Given the description of an element on the screen output the (x, y) to click on. 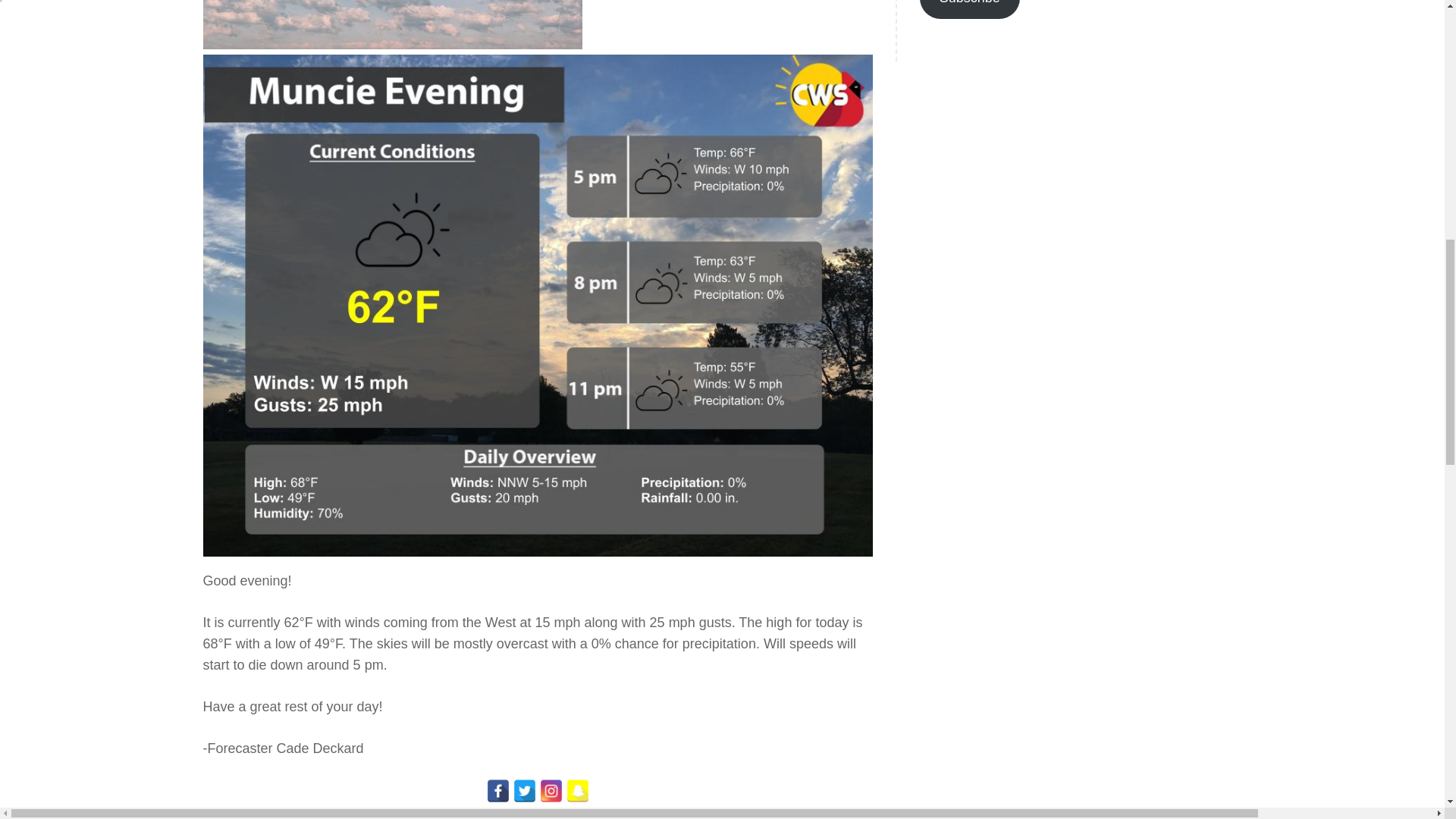
Twitter (524, 790)
Snapchat (577, 790)
Instagram (551, 790)
Facebook (497, 790)
